Given the description of an element on the screen output the (x, y) to click on. 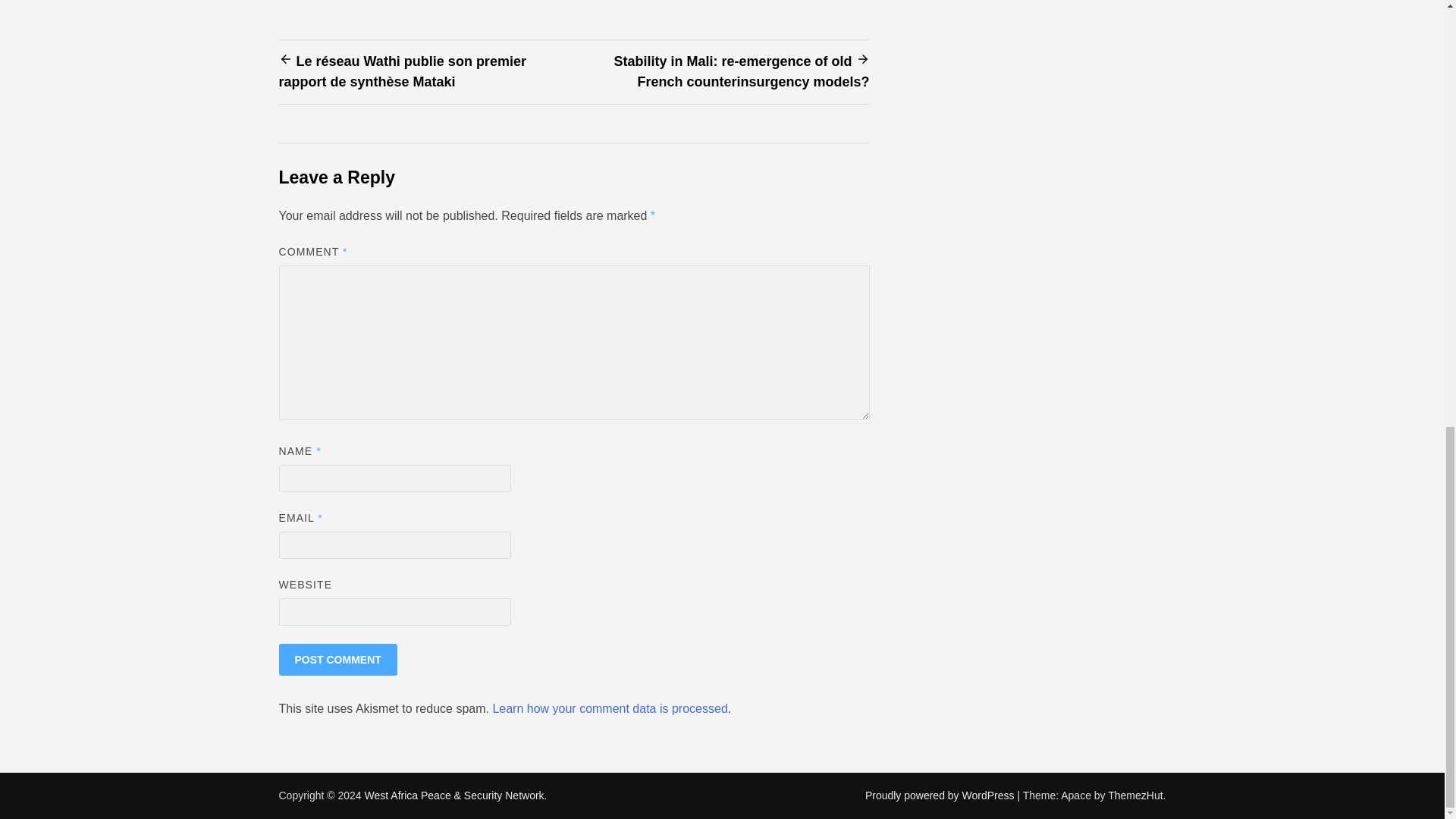
Post Comment (338, 659)
ThemezHut (1134, 795)
Learn how your comment data is processed (609, 707)
Proudly powered by WordPress (940, 795)
Post Comment (338, 659)
